Given the description of an element on the screen output the (x, y) to click on. 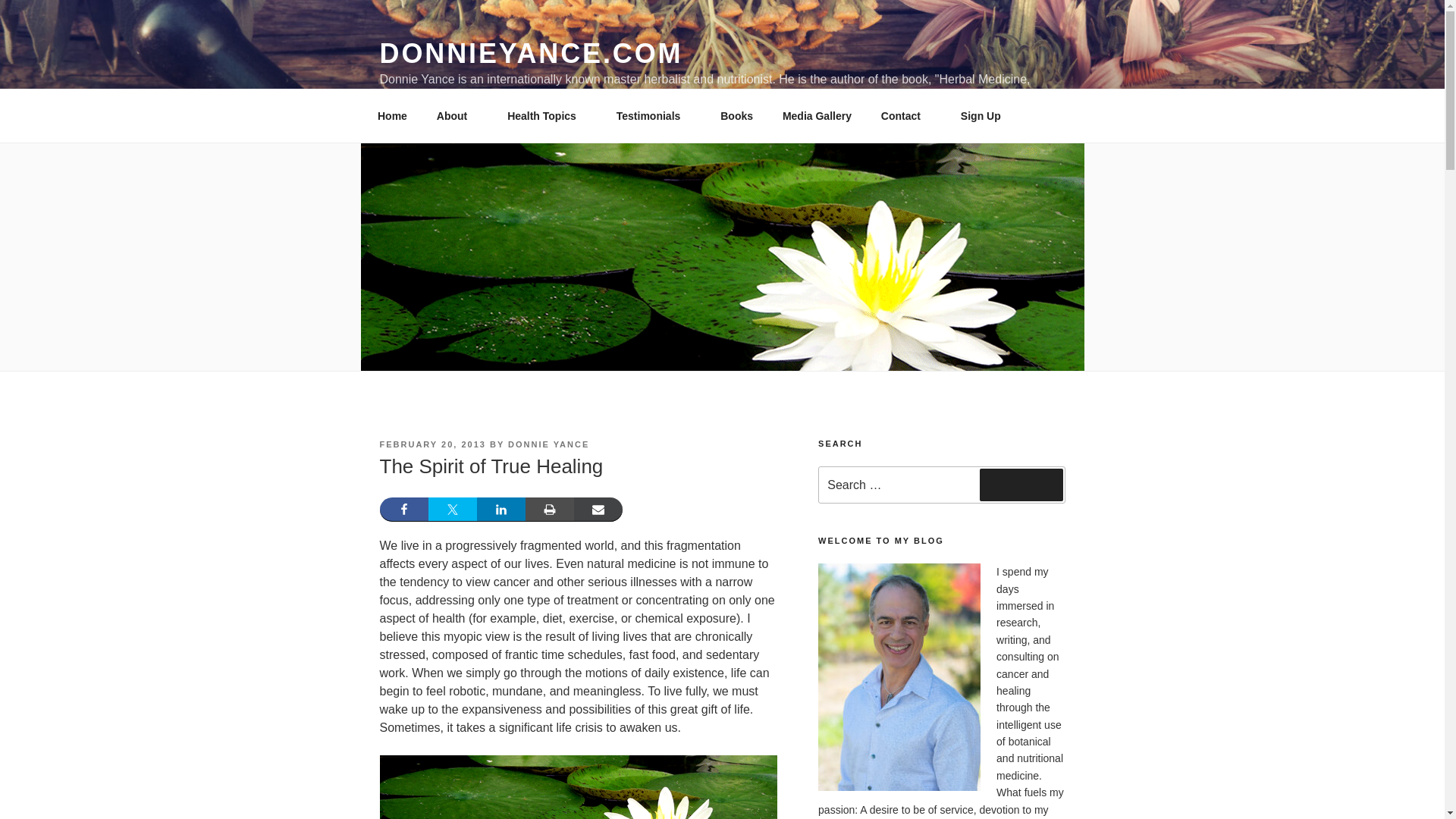
Share on LinkedIn (500, 509)
Print this Page (548, 509)
Share via Email (597, 509)
About (456, 115)
Sign Up (980, 115)
Books (737, 115)
DONNIE YANCE (548, 443)
Share on Facebook (403, 509)
FEBRUARY 20, 2013 (431, 443)
Share on Twitter (452, 509)
